Given the description of an element on the screen output the (x, y) to click on. 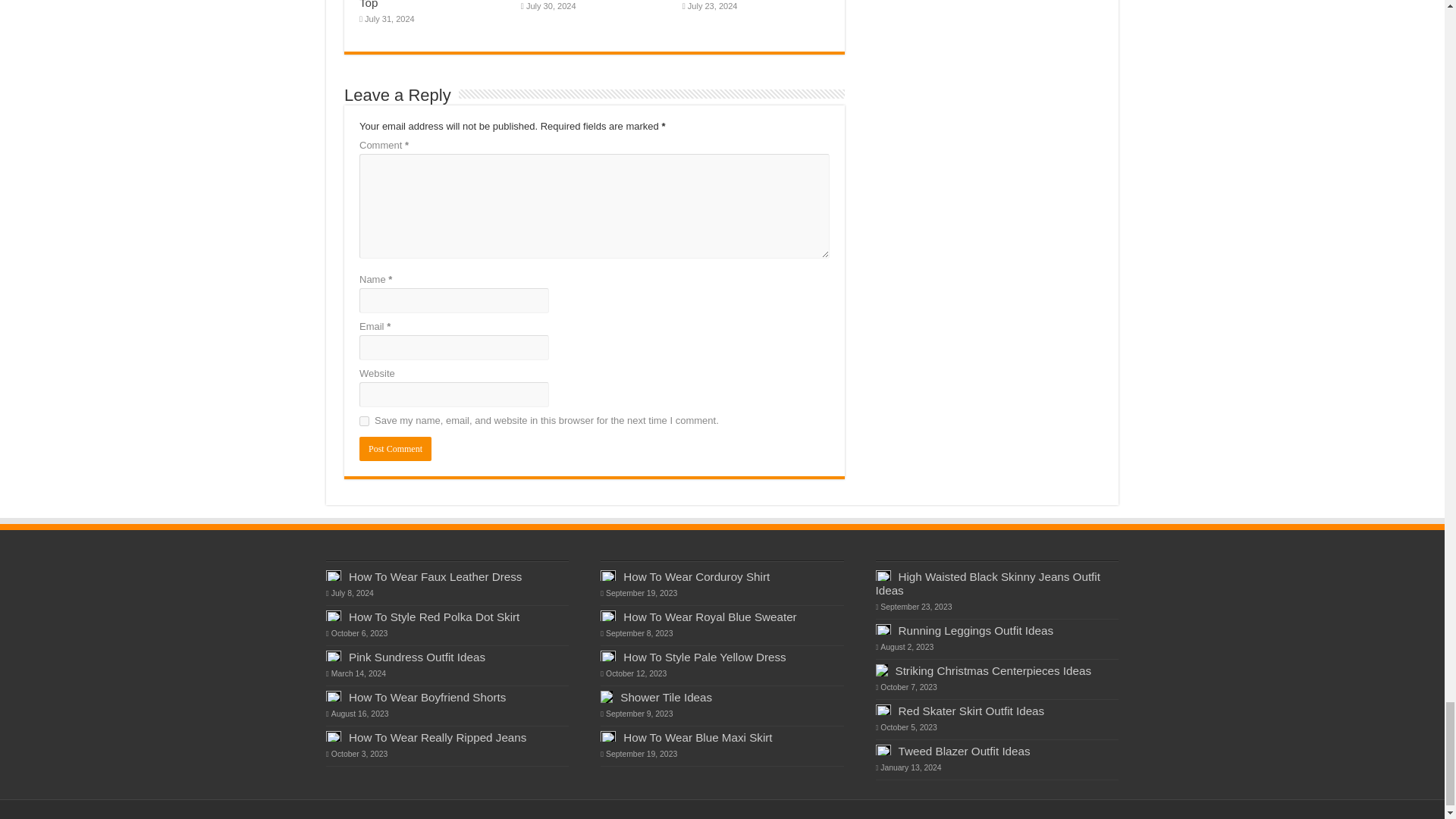
yes (364, 420)
Post Comment (394, 448)
How To Wear Faux Leather Dress (435, 576)
How To Wear Royal Blue Sweater (709, 616)
How To Wear Really Ripped Jeans (437, 737)
How To Style Pale Yellow Dress (704, 656)
Shower Tile Ideas (665, 697)
How To Style White Crochet Top (430, 4)
How To Style Red Polka Dot Skirt (434, 616)
How To Wear Boyfriend Shorts (427, 697)
Post Comment (394, 448)
Pink Sundress Outfit Ideas (416, 656)
How To Wear Corduroy Shirt (696, 576)
